Given the description of an element on the screen output the (x, y) to click on. 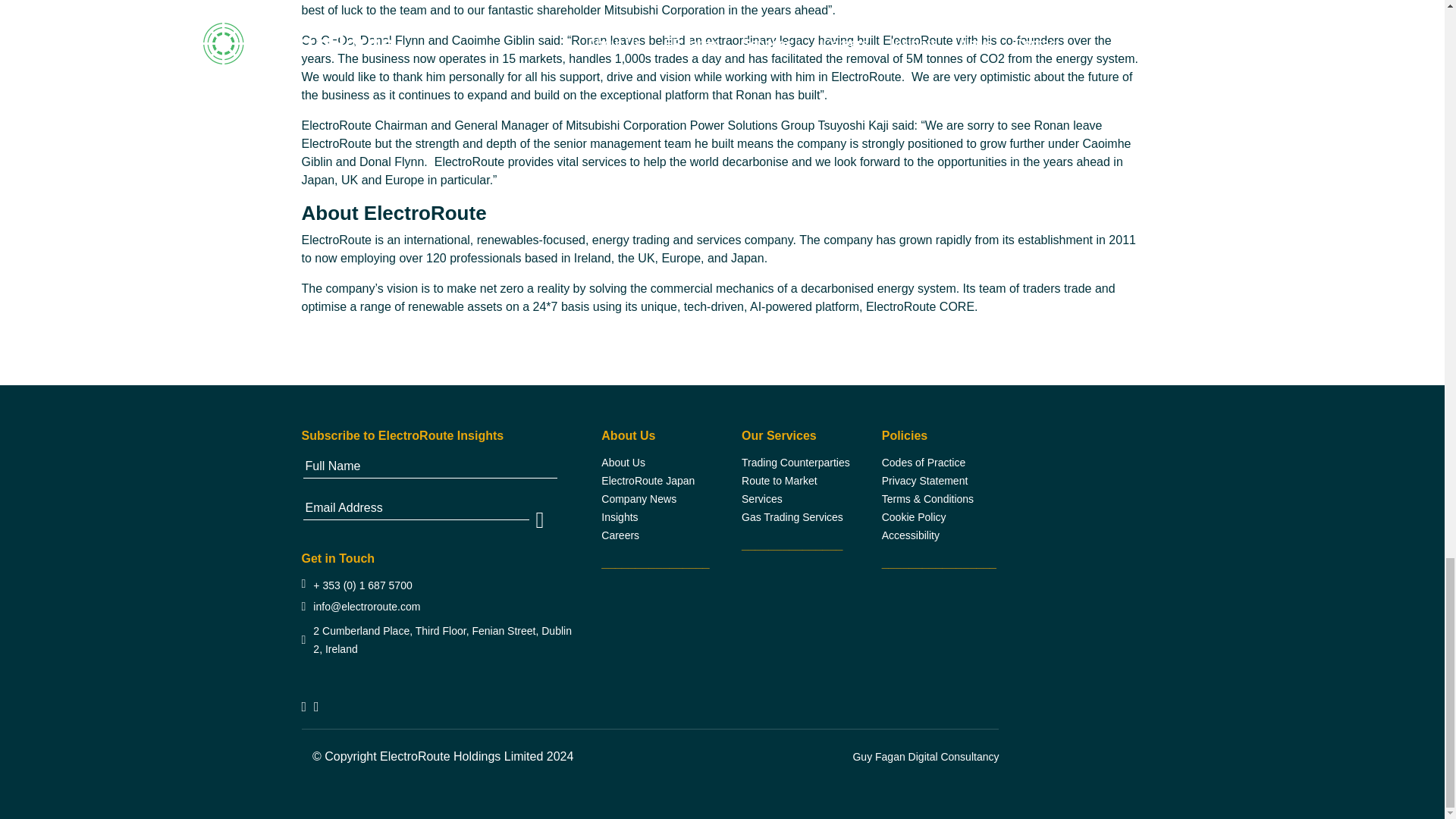
ElectroRoute Japan (647, 480)
About Us (623, 462)
Company News (639, 499)
